Given the description of an element on the screen output the (x, y) to click on. 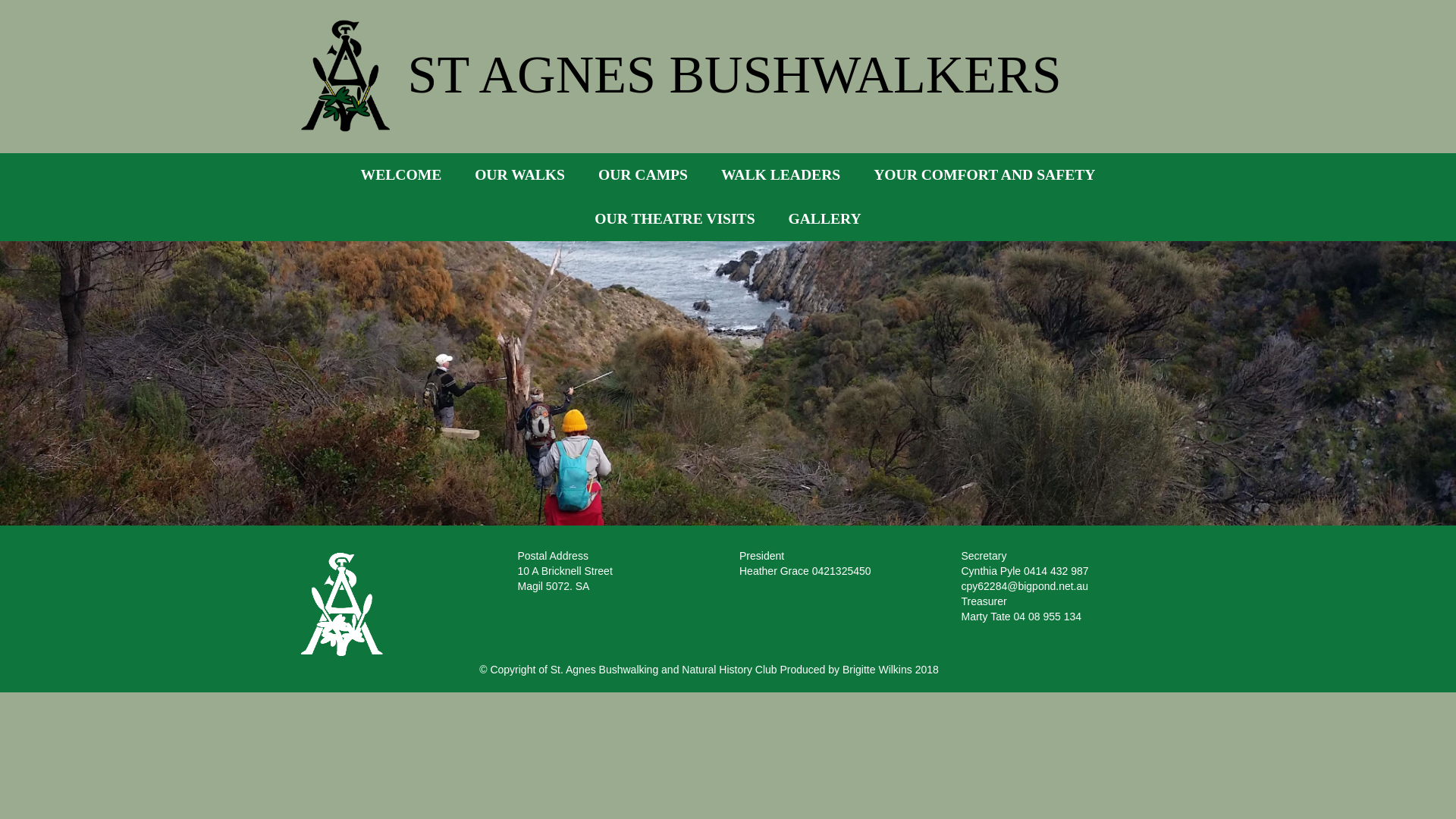
YOUR COMFORT AND SAFETY Element type: text (984, 174)
OUR CAMPS Element type: text (642, 174)
OUR THEATRE VISITS Element type: text (674, 218)
OUR WALKS Element type: text (519, 174)
GALLERY Element type: text (824, 218)
WALK LEADERS Element type: text (780, 174)
WELCOME Element type: text (401, 174)
